Given the description of an element on the screen output the (x, y) to click on. 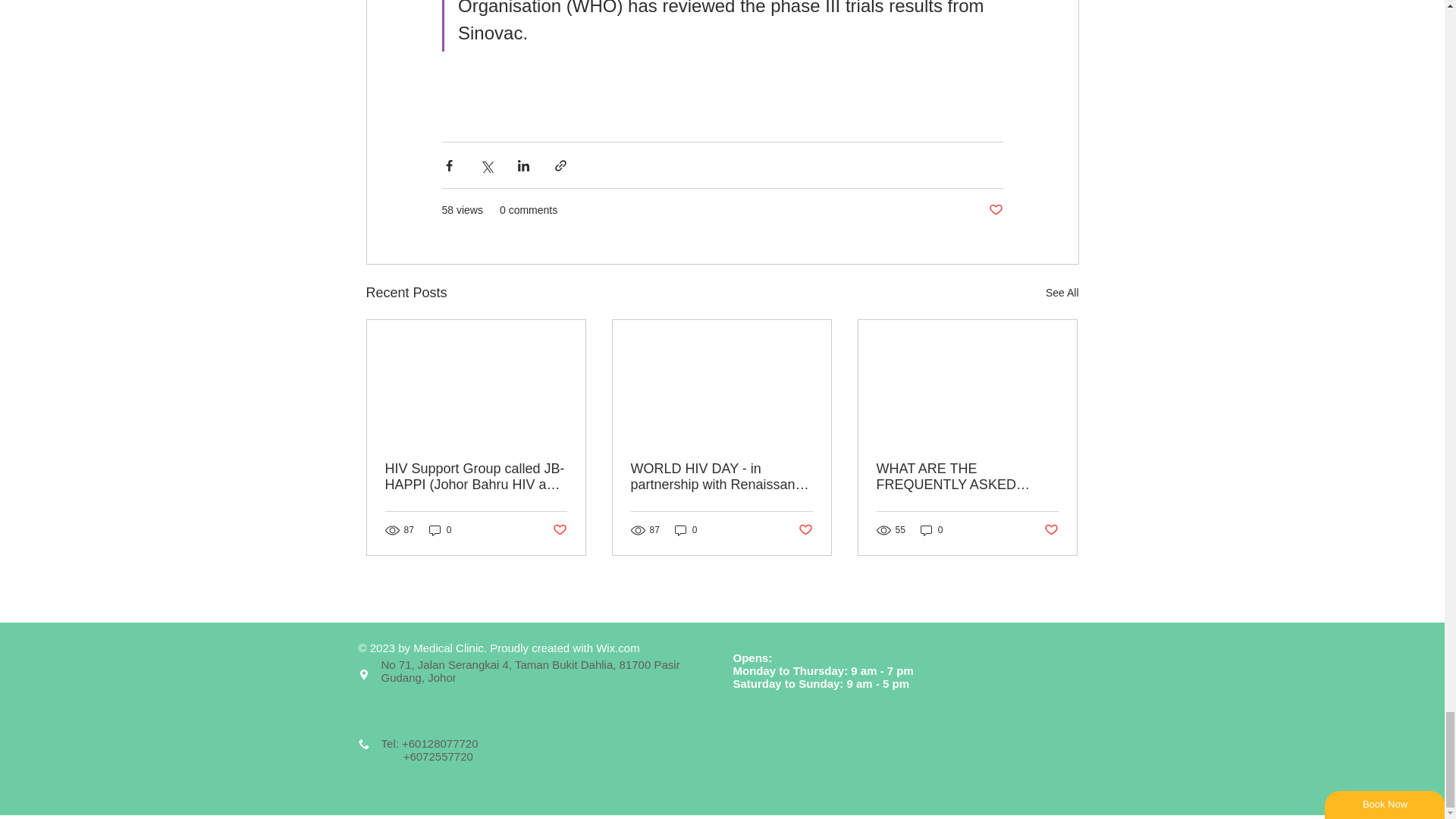
See All (1061, 292)
Post not marked as liked (995, 210)
